Given the description of an element on the screen output the (x, y) to click on. 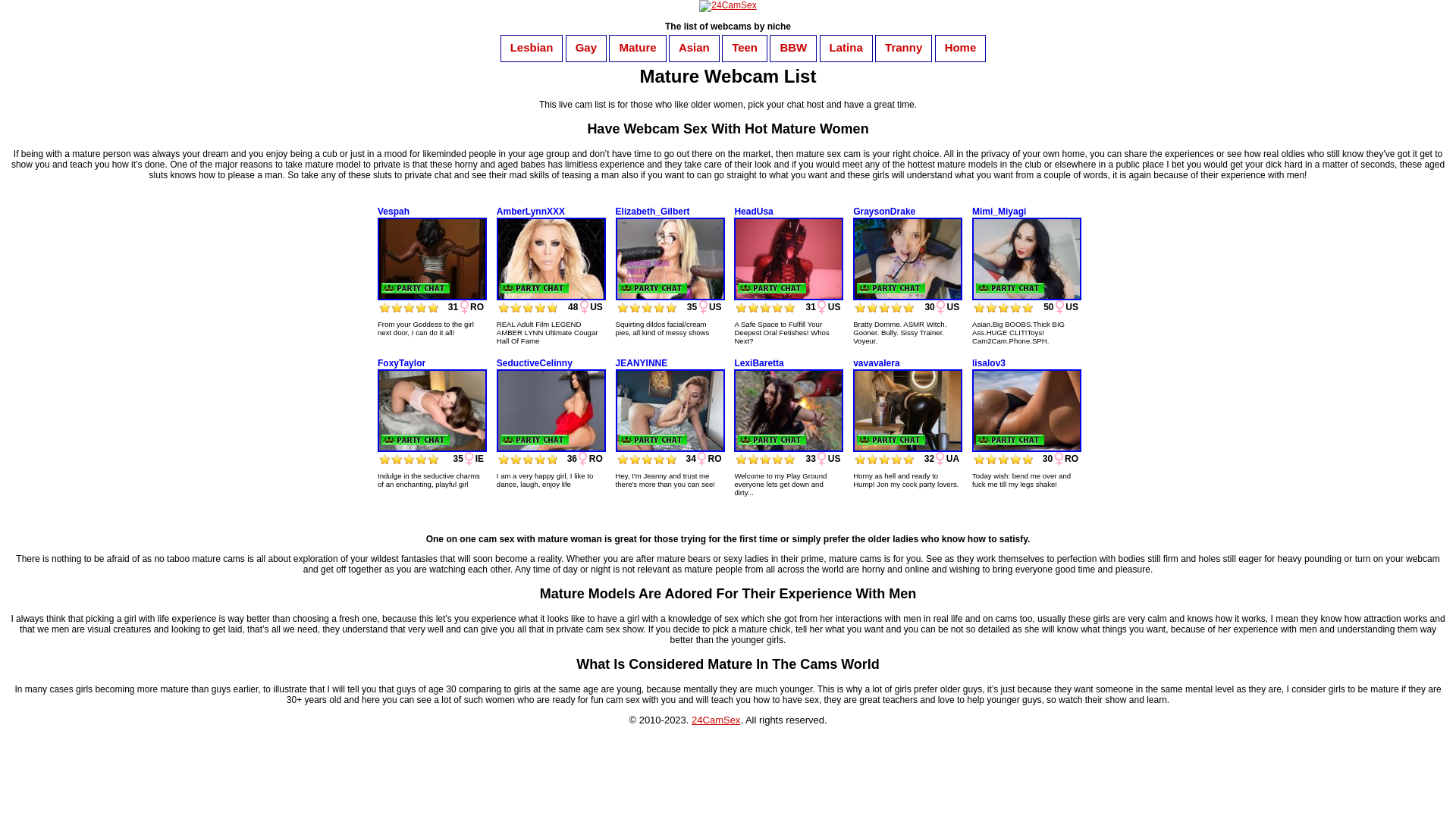
Mature Element type: text (637, 47)
Tranny Element type: text (903, 47)
24CamSex Element type: text (715, 719)
Gay Element type: text (585, 47)
Asian Element type: text (693, 47)
Teen Element type: text (744, 47)
Home Element type: text (960, 47)
BBW Element type: text (792, 47)
Lesbian Element type: text (531, 47)
Latina Element type: text (846, 47)
